Given the description of an element on the screen output the (x, y) to click on. 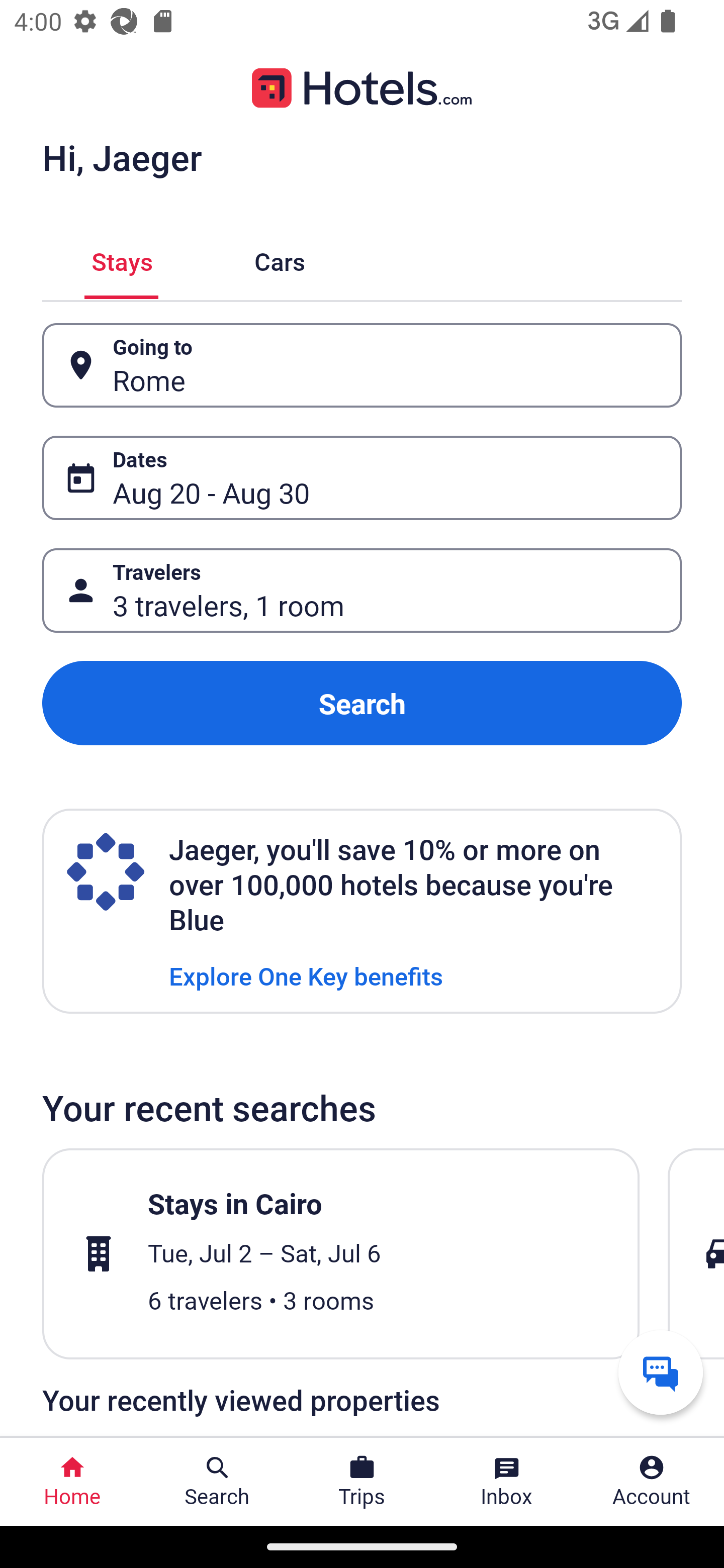
Hi, Jaeger (121, 156)
Cars (279, 259)
Going to Button Rome (361, 365)
Dates Button Aug 20 - Aug 30 (361, 477)
Travelers Button 3 travelers, 1 room (361, 590)
Search (361, 702)
Get help from a virtual agent (660, 1371)
Search Search Button (216, 1481)
Trips Trips Button (361, 1481)
Inbox Inbox Button (506, 1481)
Account Profile. Button (651, 1481)
